Given the description of an element on the screen output the (x, y) to click on. 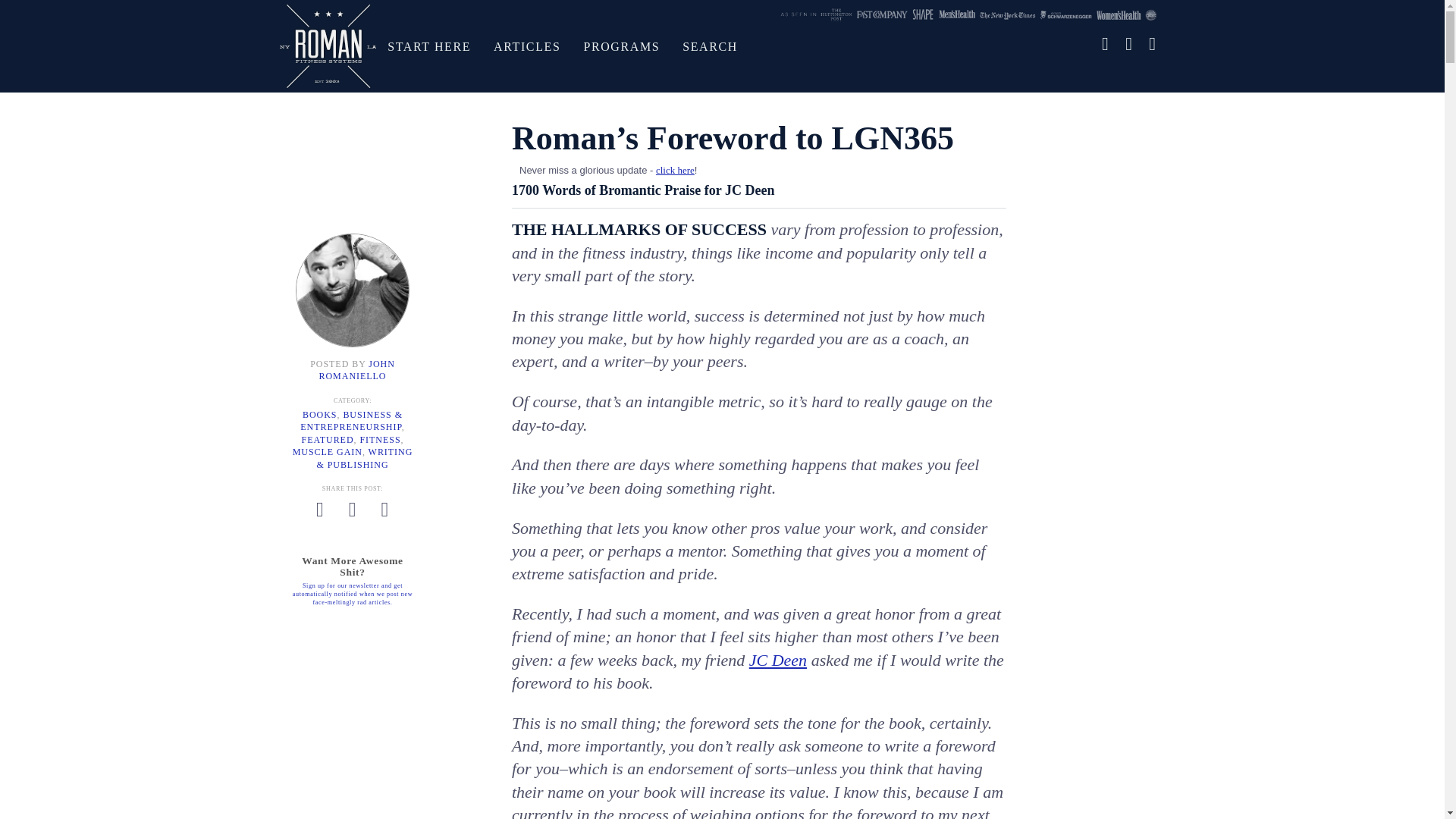
JC Deen (777, 659)
click here (675, 170)
Search (710, 46)
JOHN ROMANIELLO (356, 370)
BOOKS (319, 414)
Articles (526, 46)
FITNESS (379, 439)
PROGRAMS (621, 46)
Posts by John Romaniello (356, 370)
MUSCLE GAIN (327, 451)
SEARCH (710, 46)
Programs (621, 46)
START HERE (428, 46)
FEATURED (327, 439)
